Given the description of an element on the screen output the (x, y) to click on. 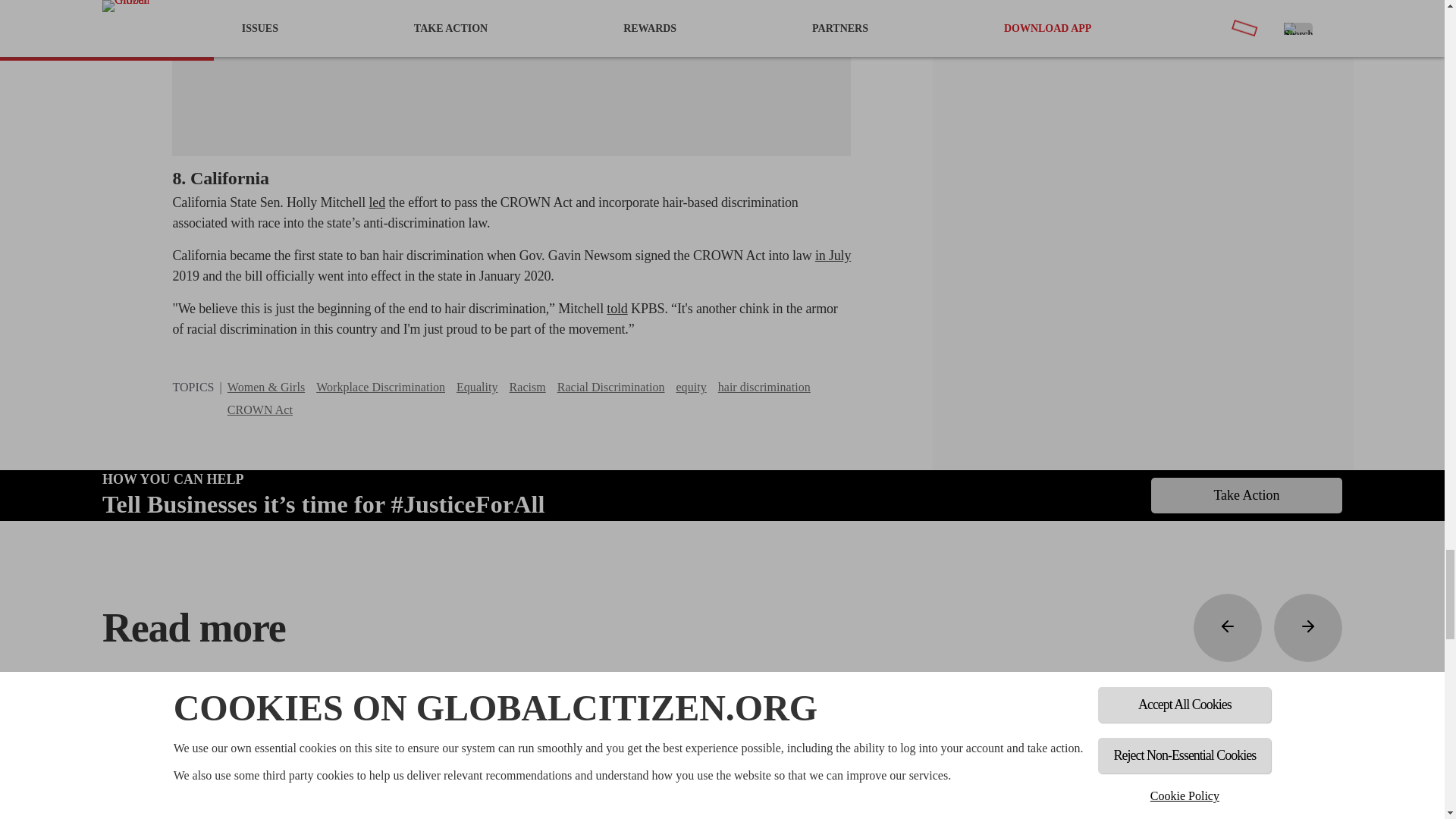
7 Ways You Can Take Action for Racial Justice Right Now (341, 72)
